Given the description of an element on the screen output the (x, y) to click on. 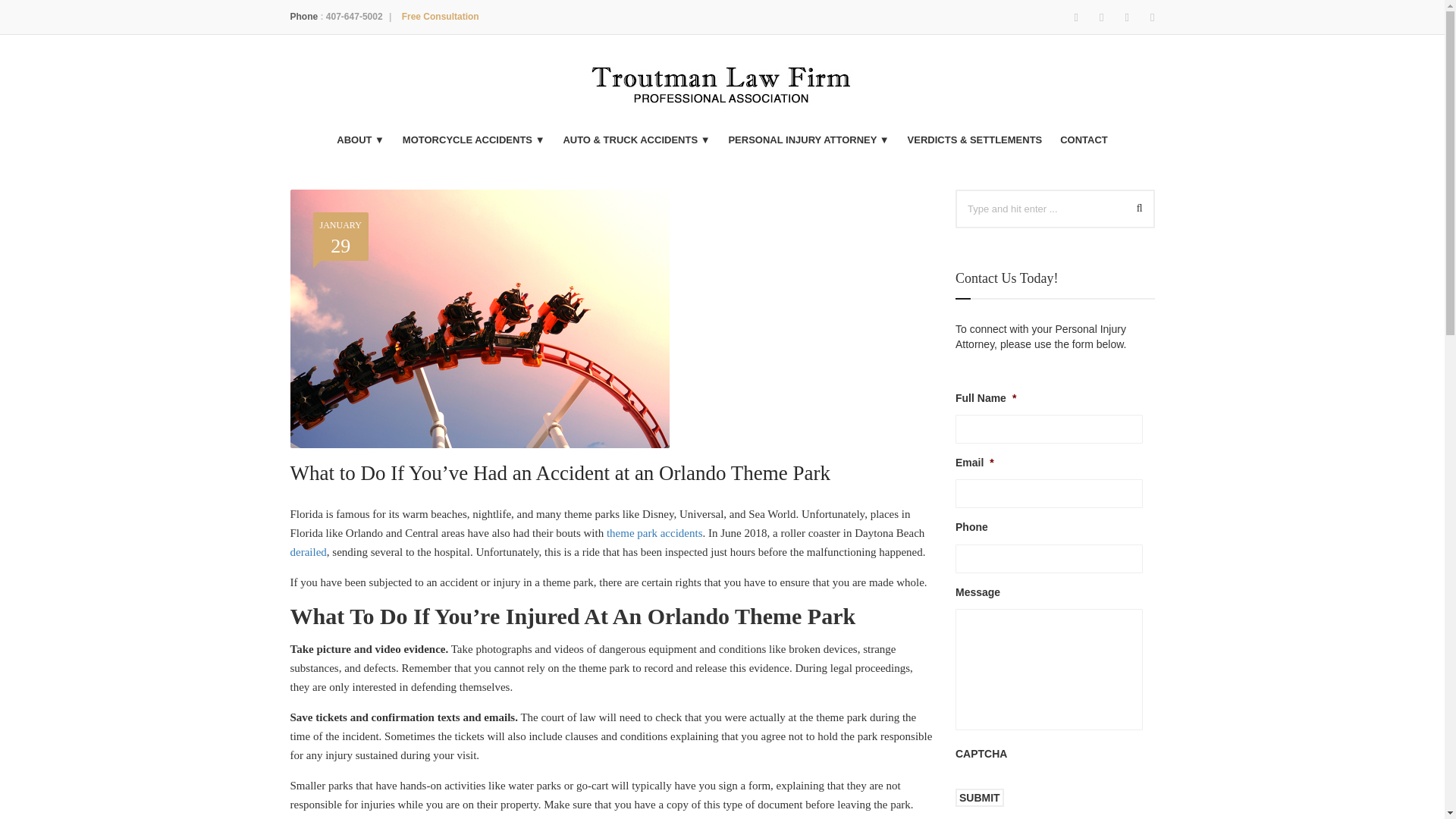
Free Consultation (340, 234)
407-647-5002 (440, 16)
Search (354, 16)
Submit (1134, 208)
CONTACT (979, 797)
